Given the description of an element on the screen output the (x, y) to click on. 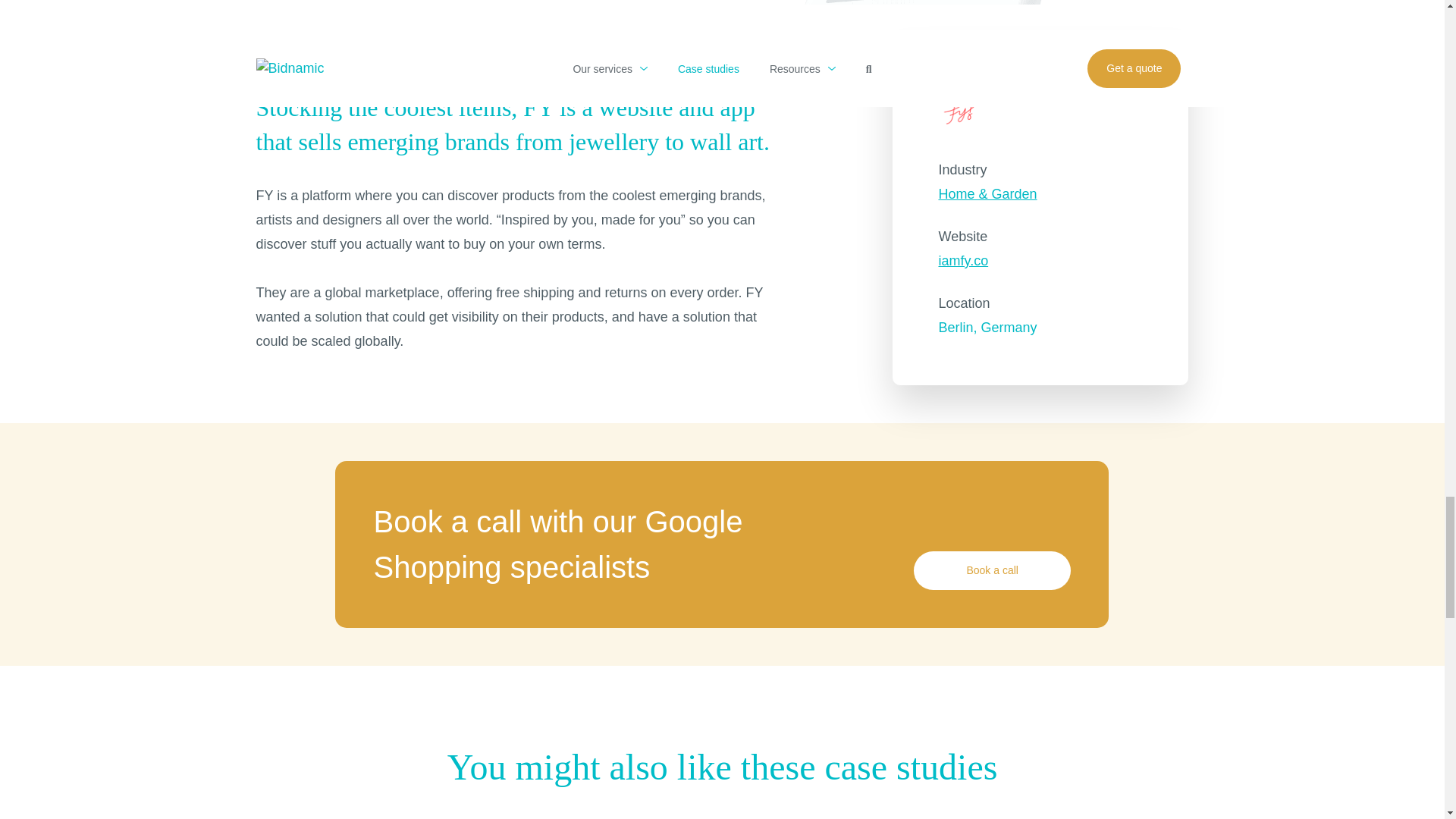
Book a call (992, 570)
Book a call (992, 570)
iamfy.co (1043, 260)
